Given the description of an element on the screen output the (x, y) to click on. 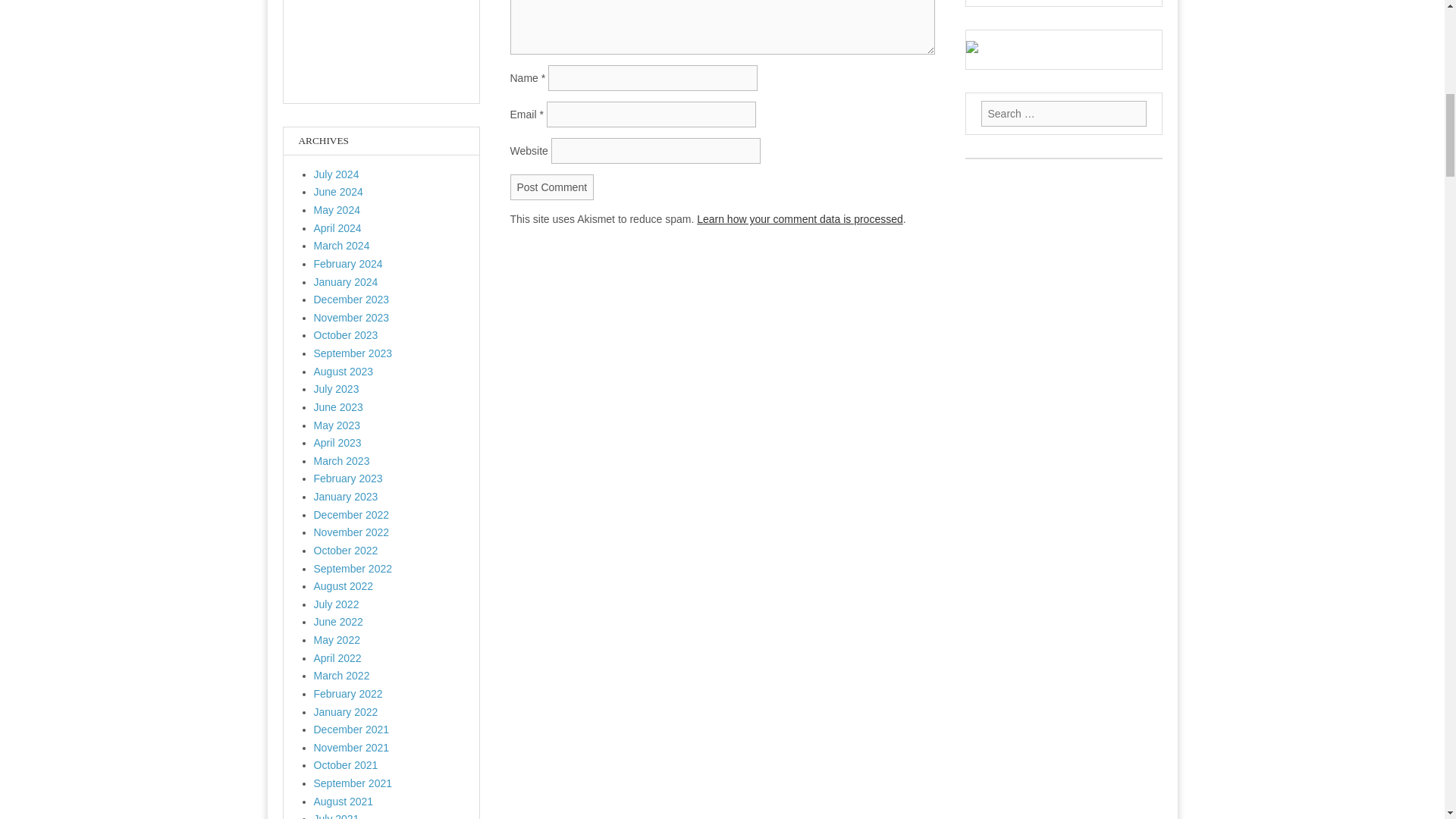
Post Comment (551, 186)
July 2024 (336, 174)
November 2023 (352, 317)
December 2023 (352, 299)
January 2024 (346, 282)
May 2024 (336, 209)
June 2024 (338, 191)
Post Comment (551, 186)
Learn how your comment data is processed (799, 218)
March 2024 (341, 245)
February 2024 (348, 263)
April 2024 (337, 227)
